Given the description of an element on the screen output the (x, y) to click on. 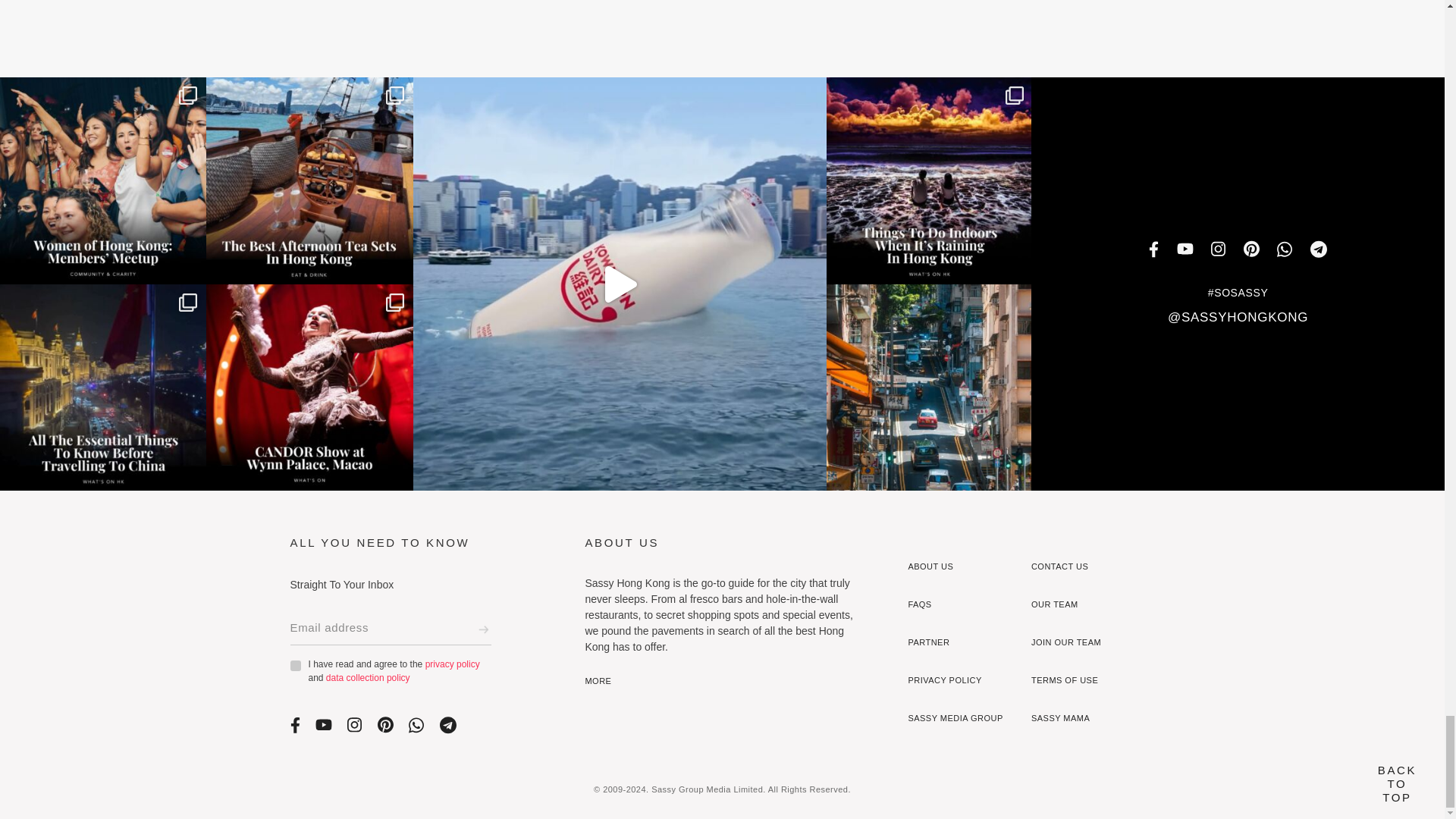
Sign Up (483, 629)
on (294, 665)
